Given the description of an element on the screen output the (x, y) to click on. 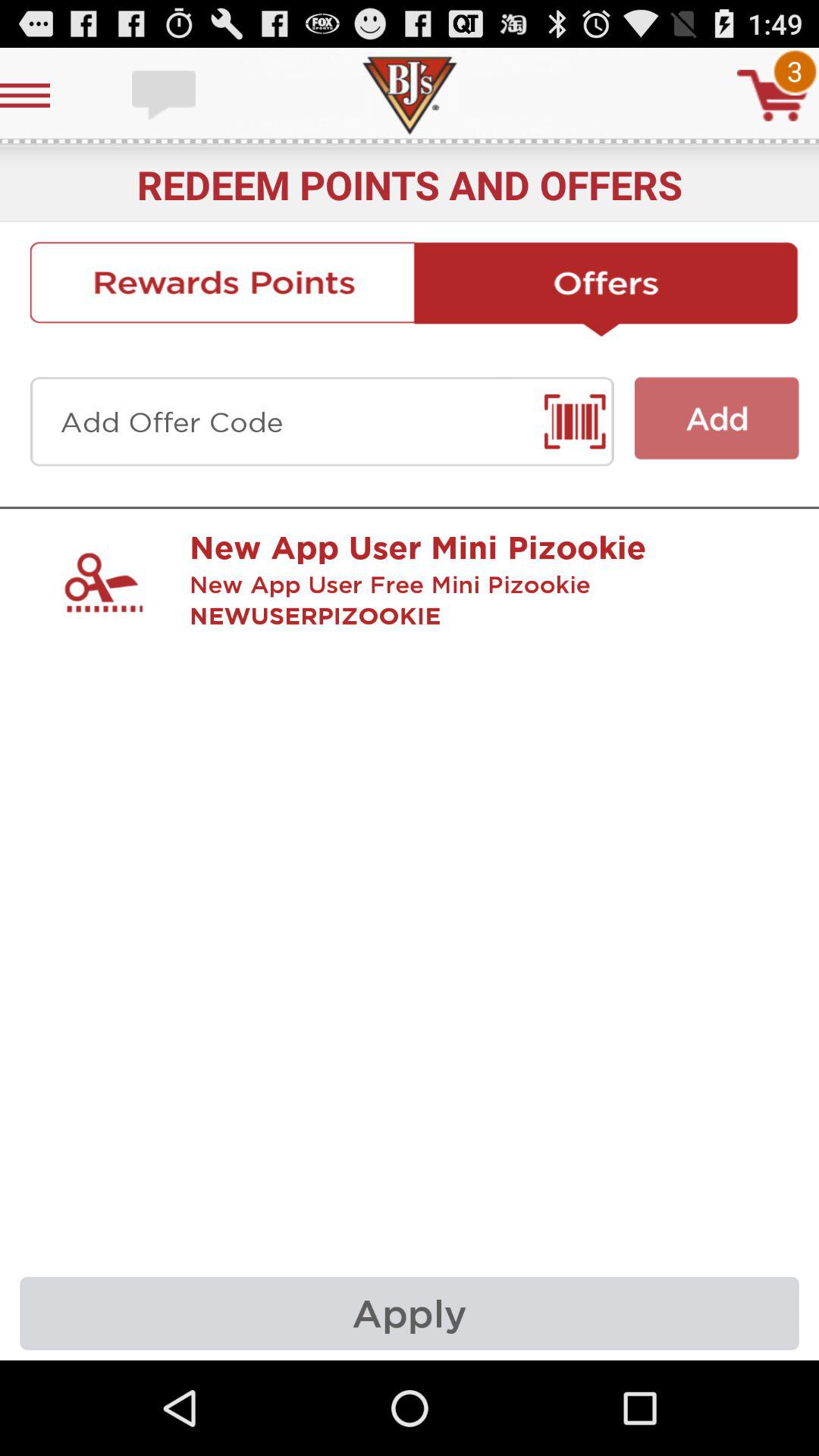
add offer code (322, 421)
